Given the description of an element on the screen output the (x, y) to click on. 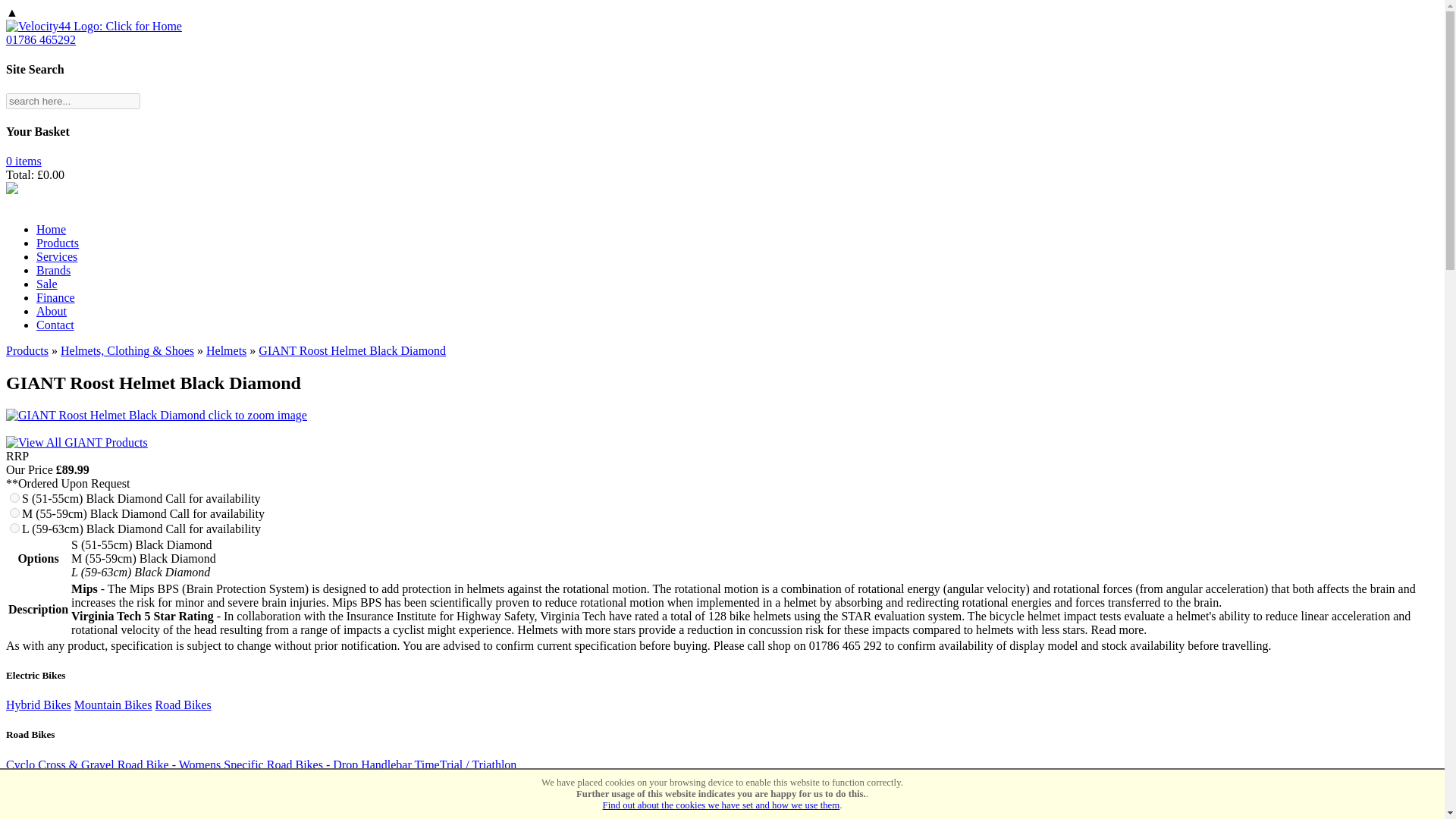
Helmets (226, 350)
Checkout Now (23, 160)
Mountain Bikes (113, 704)
Finance (55, 297)
About (51, 310)
Road Bikes (182, 704)
01786 465292 (40, 39)
GIANT Roost Helmet Black Diamond (352, 350)
39932 (15, 497)
Products (57, 242)
